Given the description of an element on the screen output the (x, y) to click on. 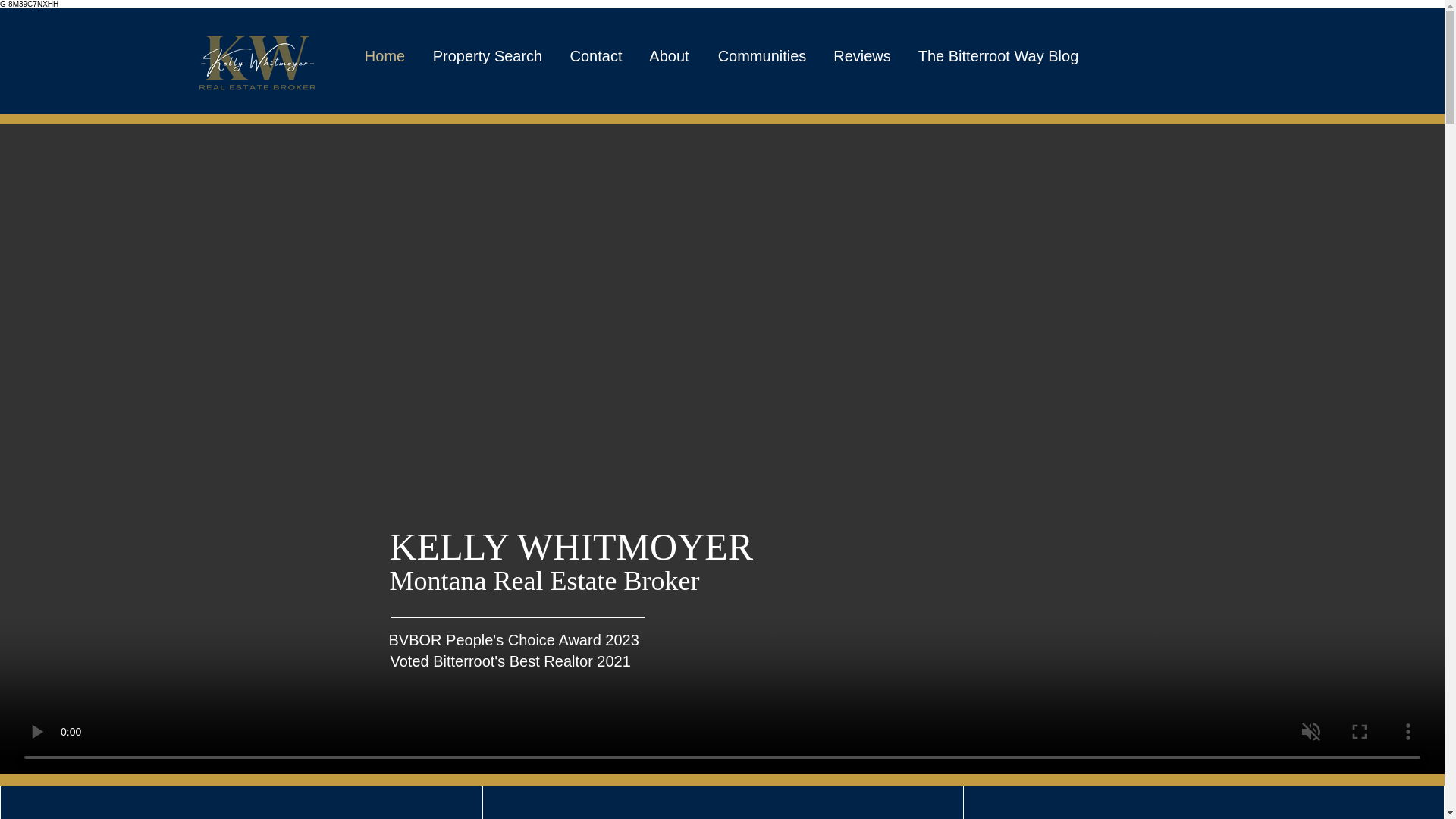
Contact (596, 56)
Communities (761, 56)
Reviews (862, 56)
Home (384, 56)
About (667, 56)
Property Search (487, 56)
The Bitterroot Way Blog (997, 56)
